Given the description of an element on the screen output the (x, y) to click on. 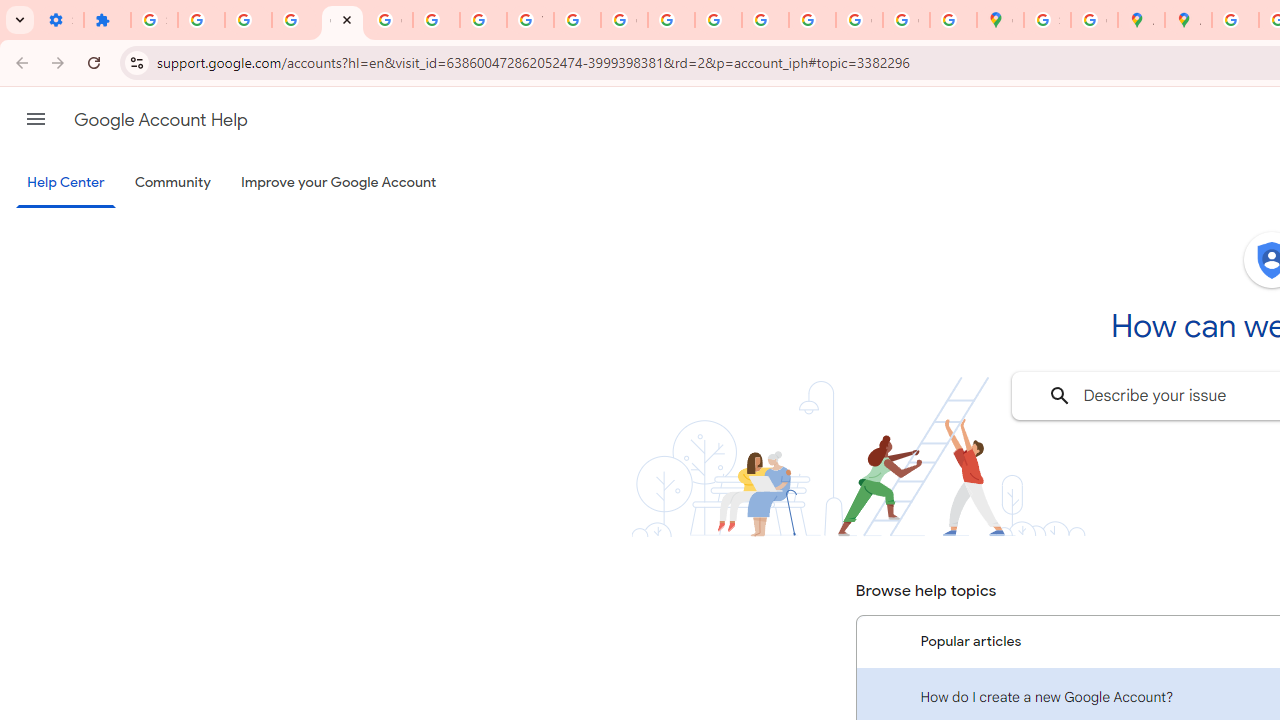
Privacy Help Center - Policies Help (671, 20)
Create your Google Account (1094, 20)
Google Account Help (160, 119)
